Given the description of an element on the screen output the (x, y) to click on. 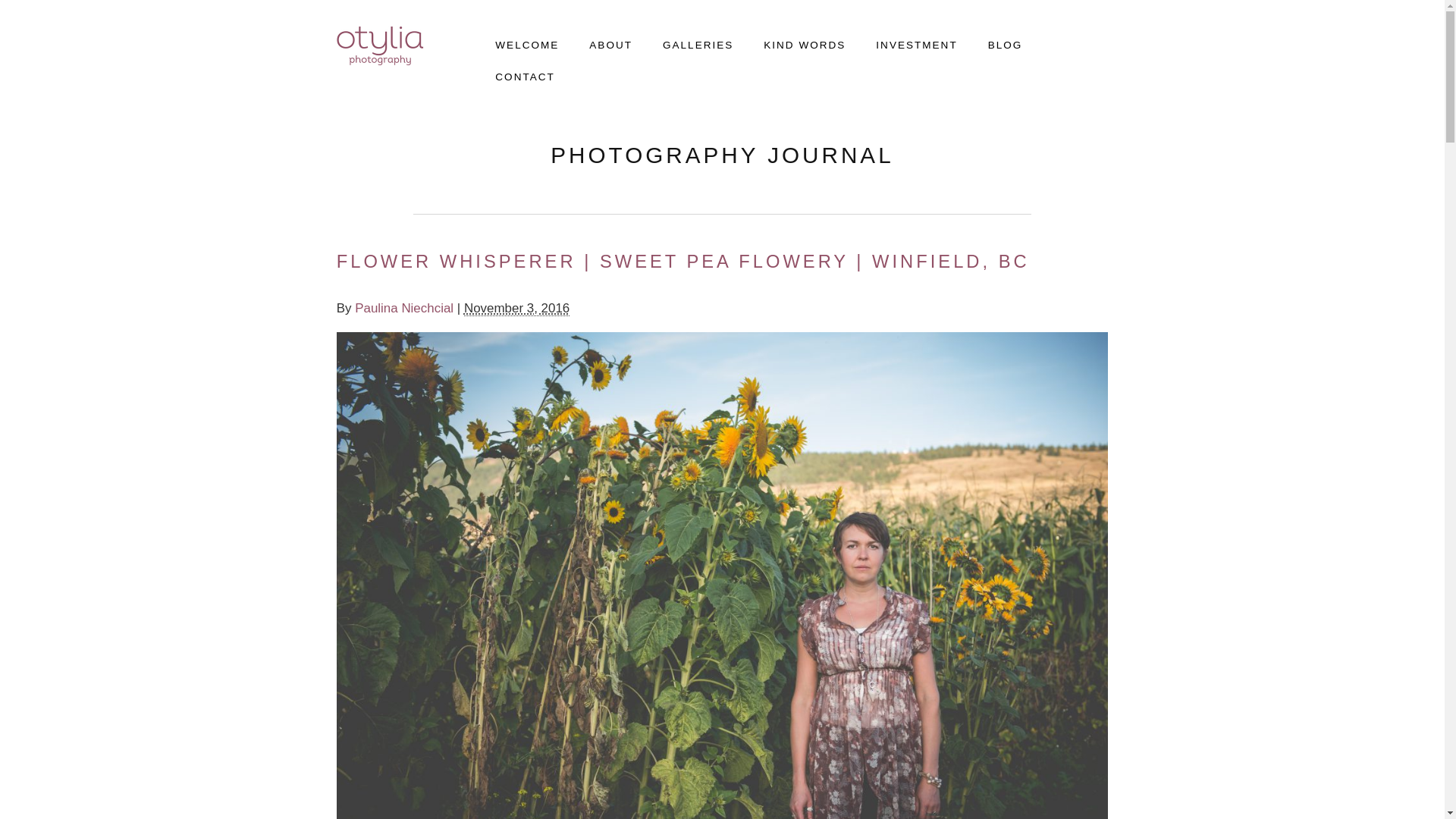
WELCOME (511, 41)
BLOG (990, 41)
View all posts by Paulina Niechcial (403, 308)
ABOUT (595, 41)
Paulina Niechcial (403, 308)
CONTACT (509, 73)
KIND WORDS (789, 41)
GALLERIES (682, 41)
INVESTMENT (900, 41)
